Given the description of an element on the screen output the (x, y) to click on. 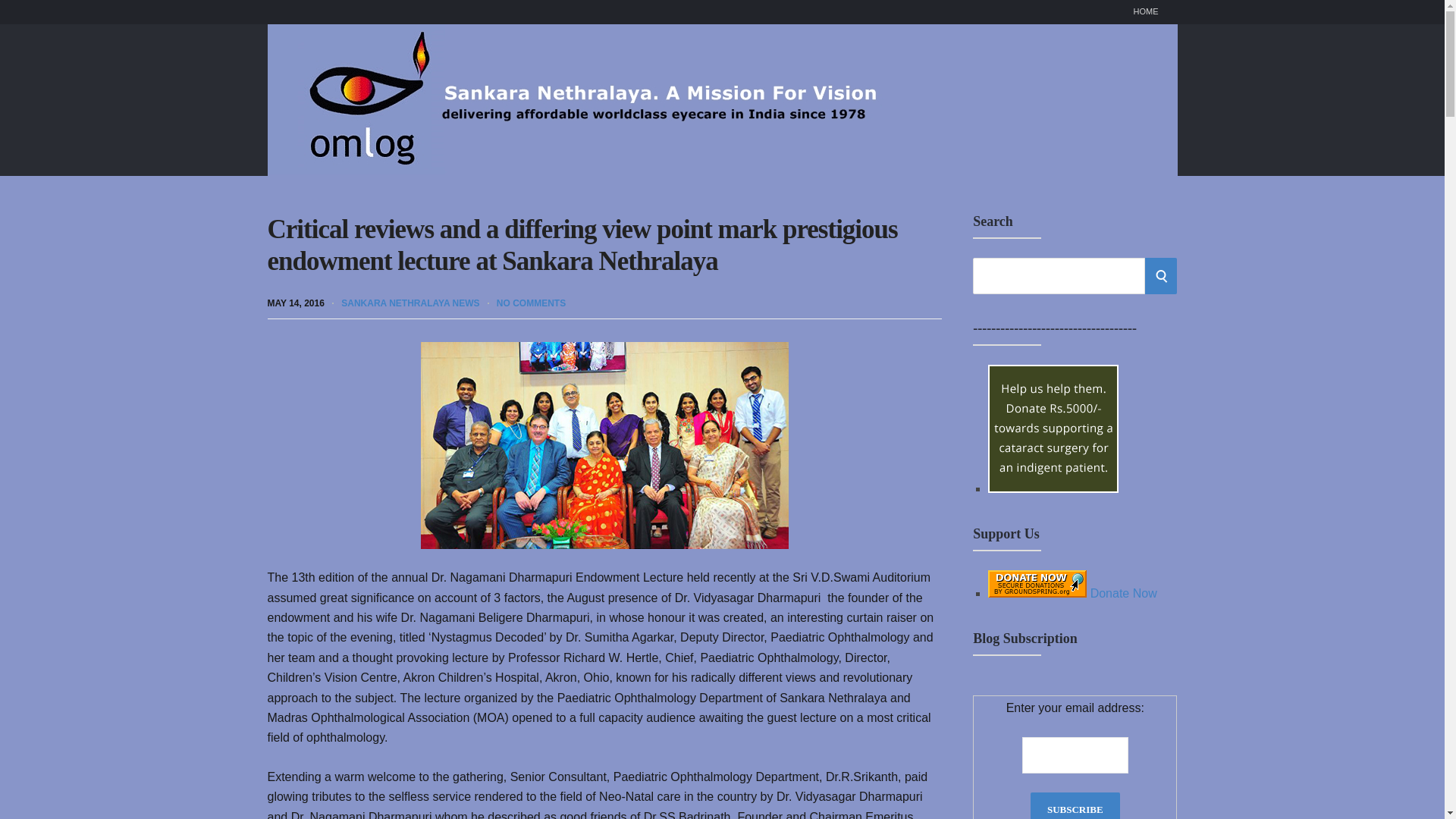
Subscribe (1074, 805)
Donate Now (1053, 488)
SANKARA NETHRALAYA NEWS (409, 302)
Donate Now (1072, 593)
Donate Now (1053, 428)
HOME (1144, 11)
NO COMMENTS (531, 302)
Subscribe (1074, 805)
